Given the description of an element on the screen output the (x, y) to click on. 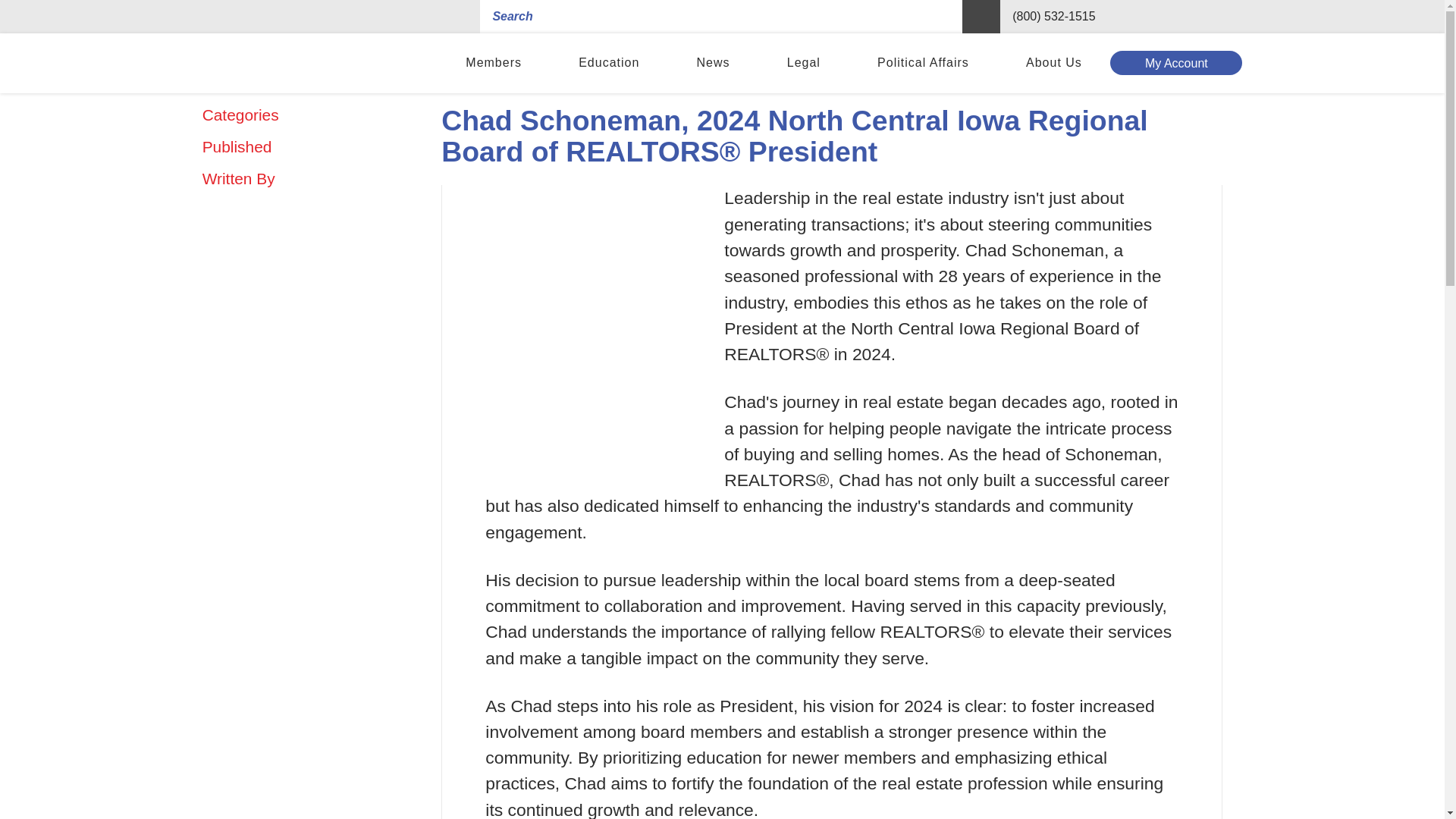
Members (494, 63)
Search (981, 16)
Search (981, 16)
Education (609, 63)
